Given the description of an element on the screen output the (x, y) to click on. 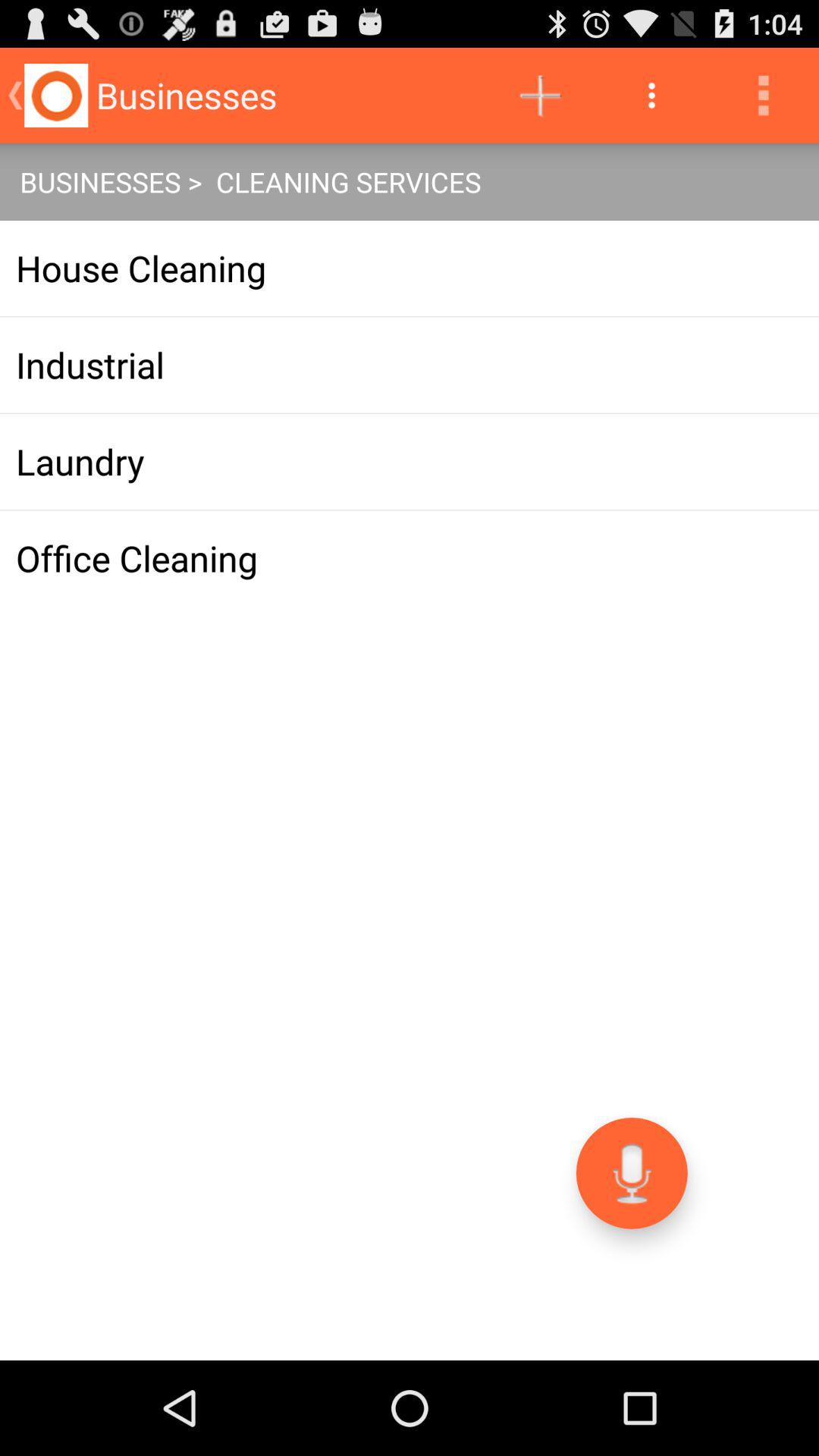
turn on item to the right of the businesses (540, 95)
